Given the description of an element on the screen output the (x, y) to click on. 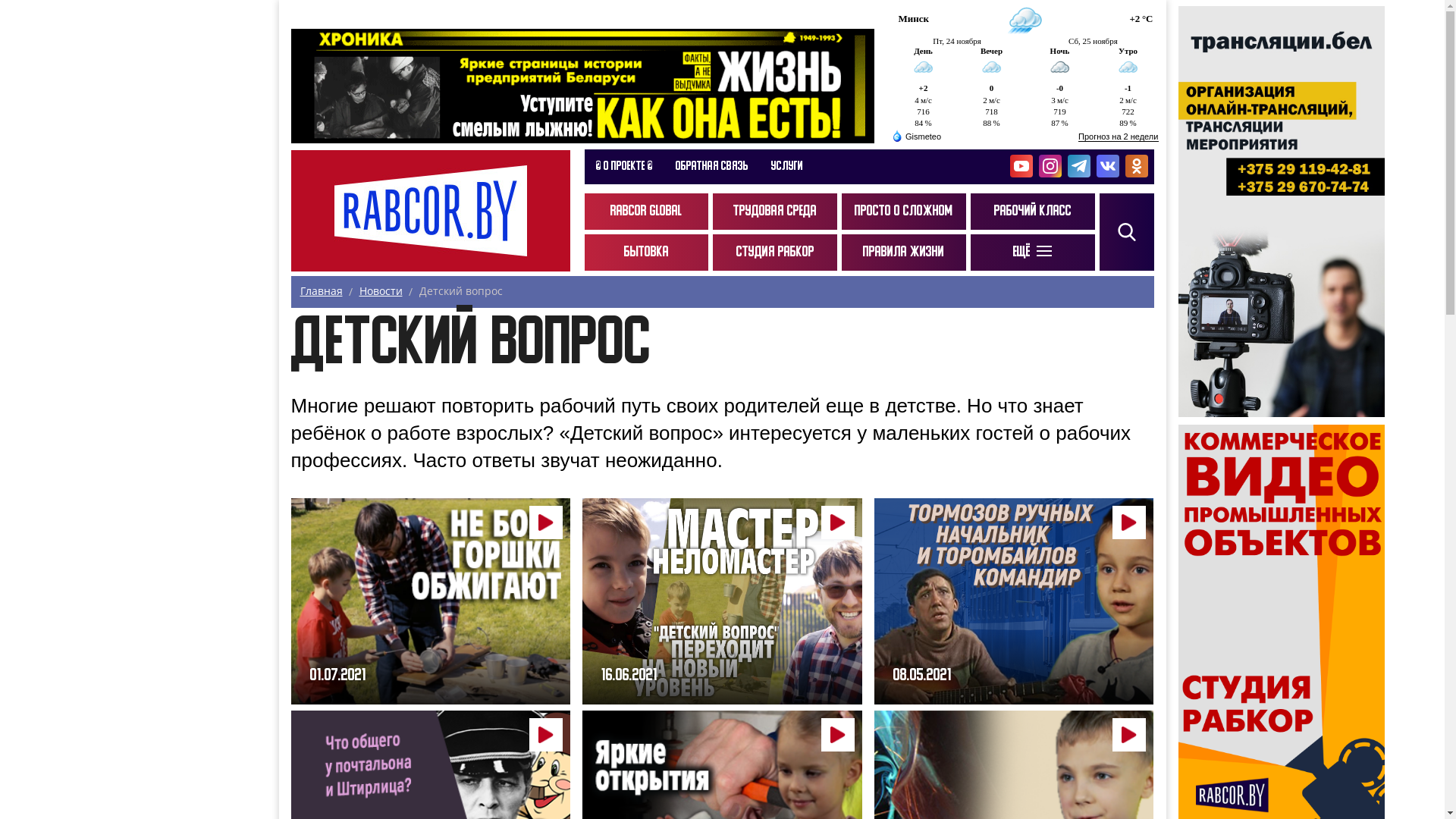
16.06.2021 Element type: text (722, 601)
08.05.2021 Element type: text (1014, 601)
01.07.2021 Element type: text (431, 601)
RABCOR GLOBAL Element type: text (645, 211)
